Given the description of an element on the screen output the (x, y) to click on. 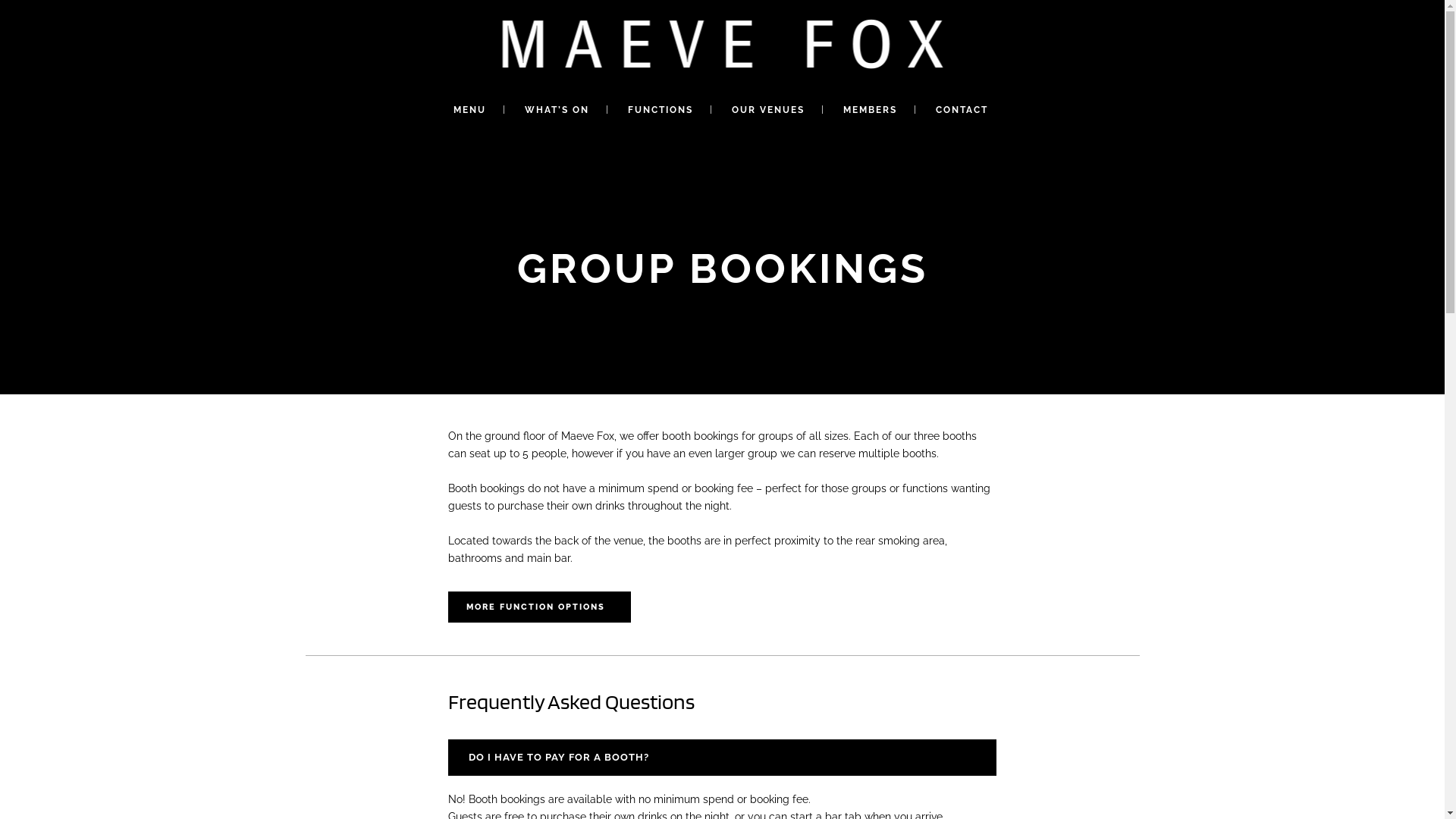
MEMBERS Element type: text (870, 109)
OUR VENUES Element type: text (767, 109)
FUNCTIONS Element type: text (660, 109)
CONTACT Element type: text (961, 109)
MORE FUNCTION OPTIONS Element type: text (539, 606)
MENU Element type: text (469, 109)
